Given the description of an element on the screen output the (x, y) to click on. 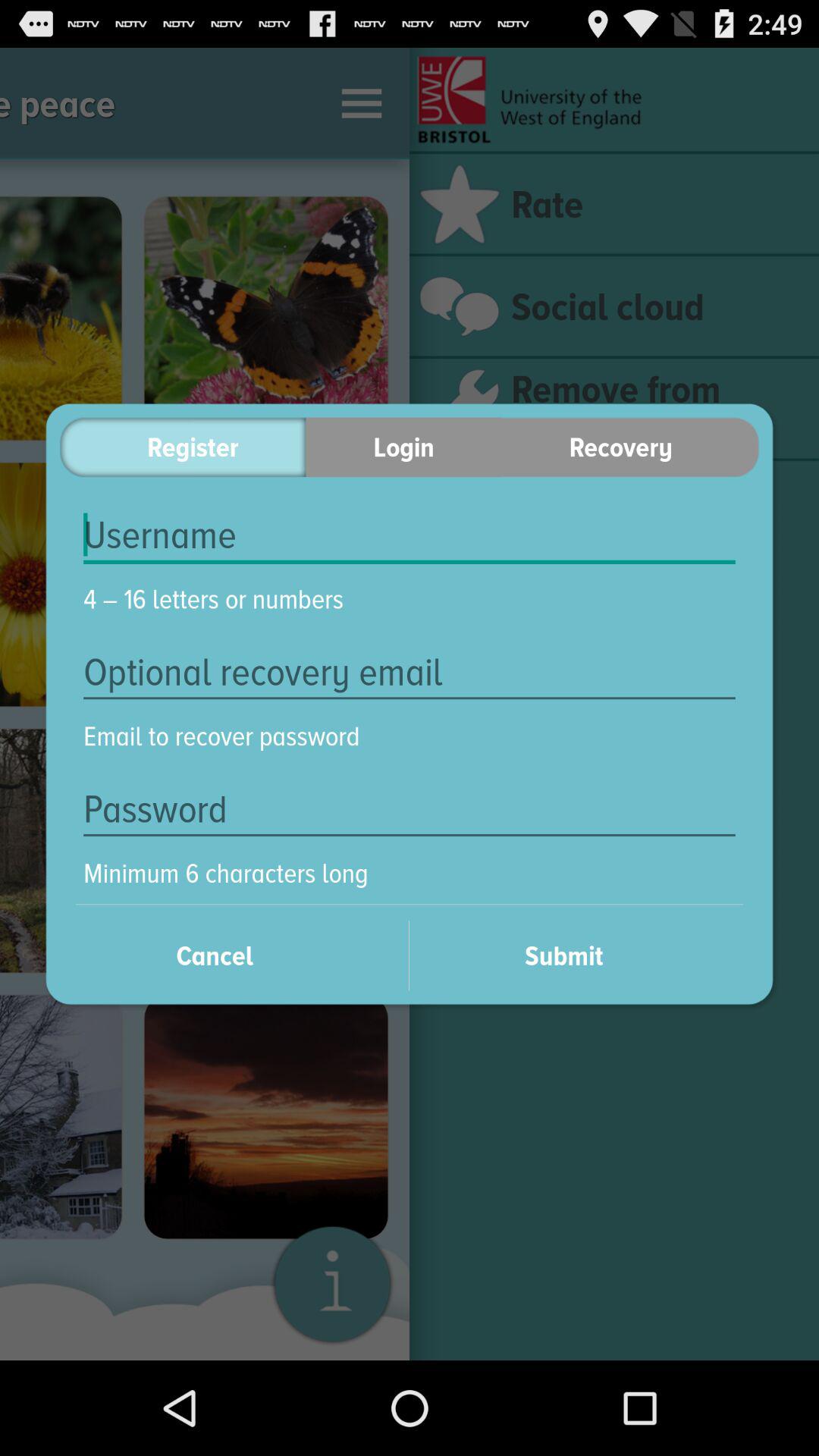
jump to the submit (584, 955)
